Given the description of an element on the screen output the (x, y) to click on. 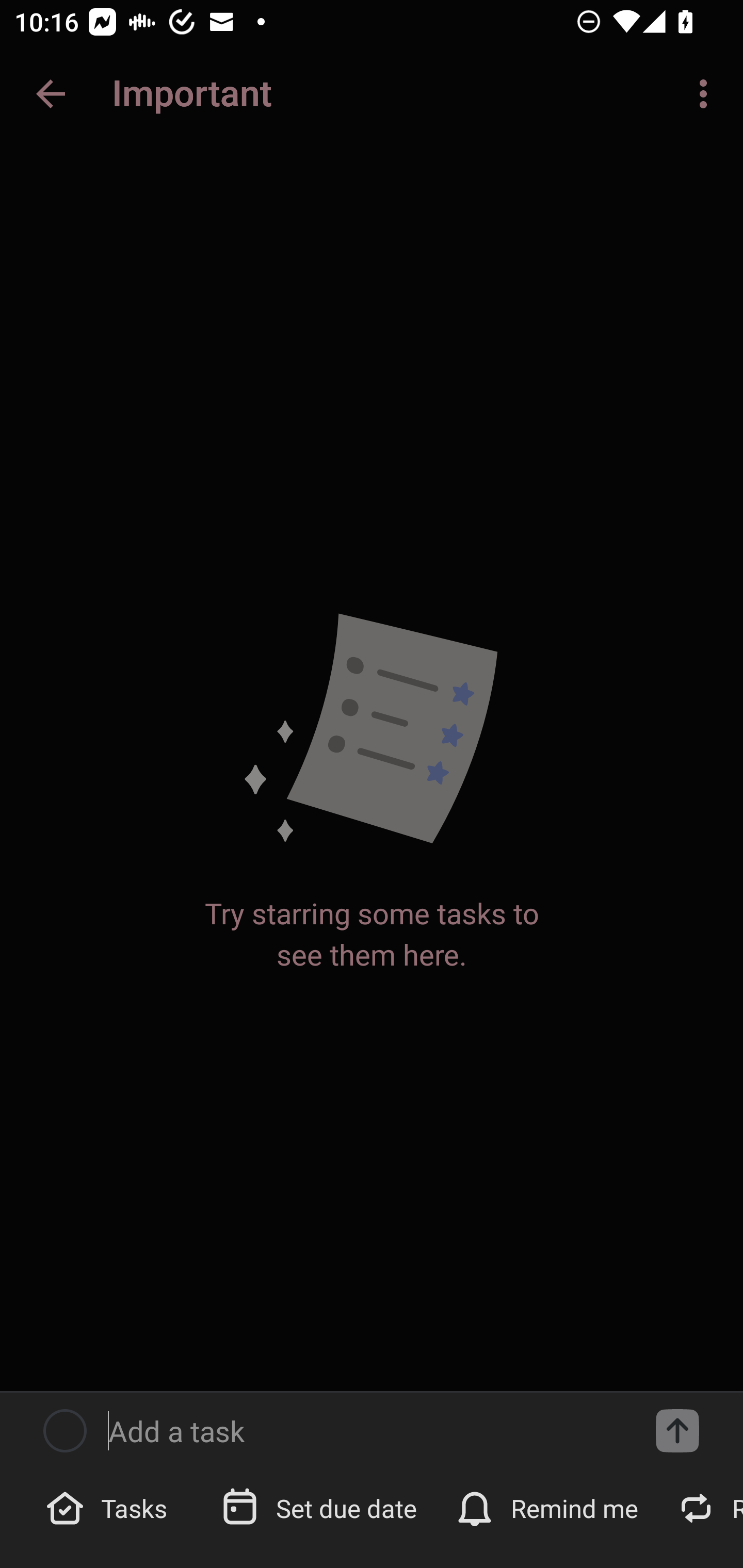
Back (50, 93)
More options (706, 93)
Add a task (676, 1430)
Add a task (366, 1430)
Tasks (108, 1507)
Set due date (321, 1507)
Remind me (548, 1507)
